Given the description of an element on the screen output the (x, y) to click on. 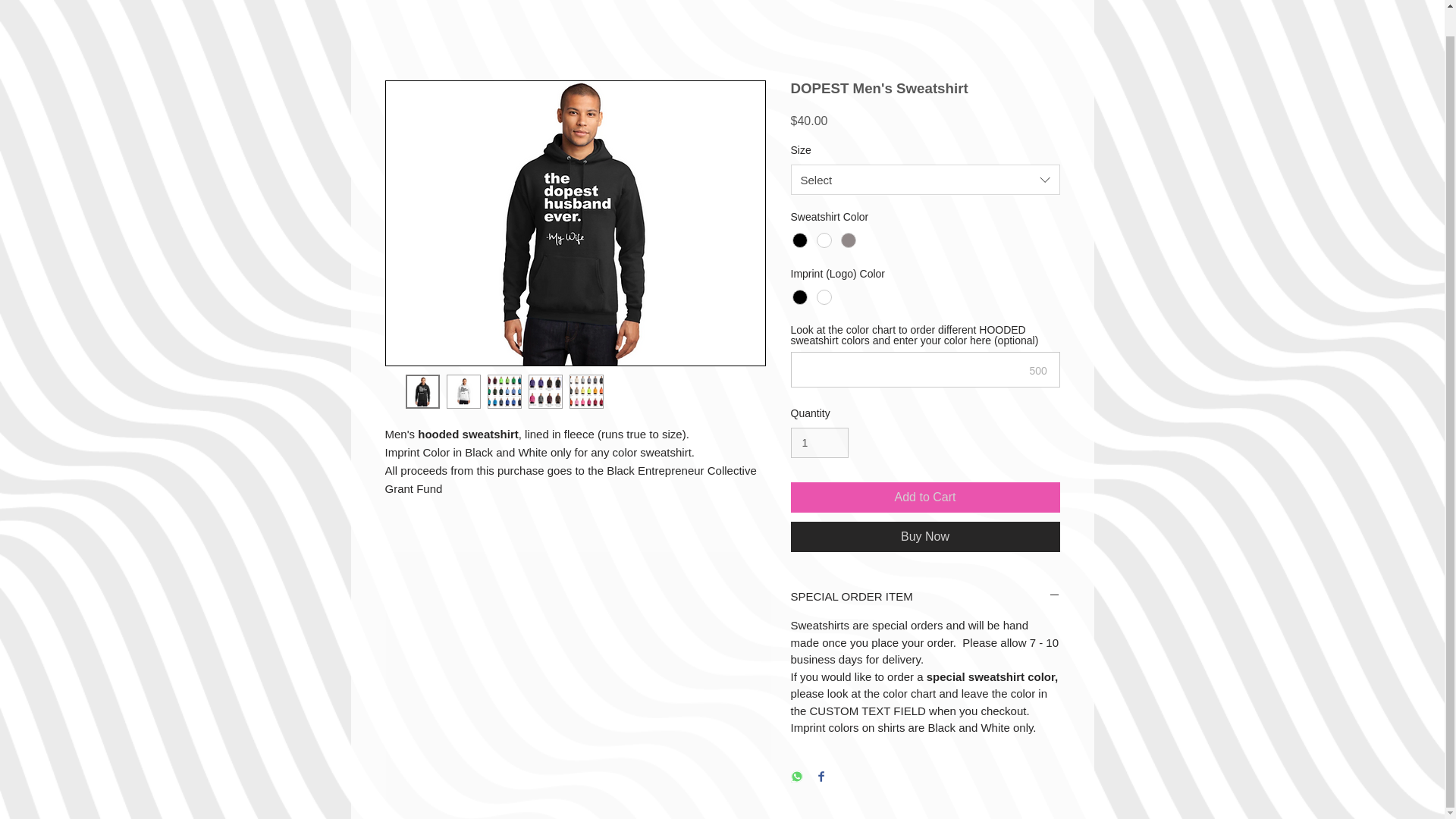
Buy Now (924, 536)
Select (924, 179)
1 (818, 442)
SPECIAL ORDER ITEM (924, 596)
Add to Cart (924, 497)
